Given the description of an element on the screen output the (x, y) to click on. 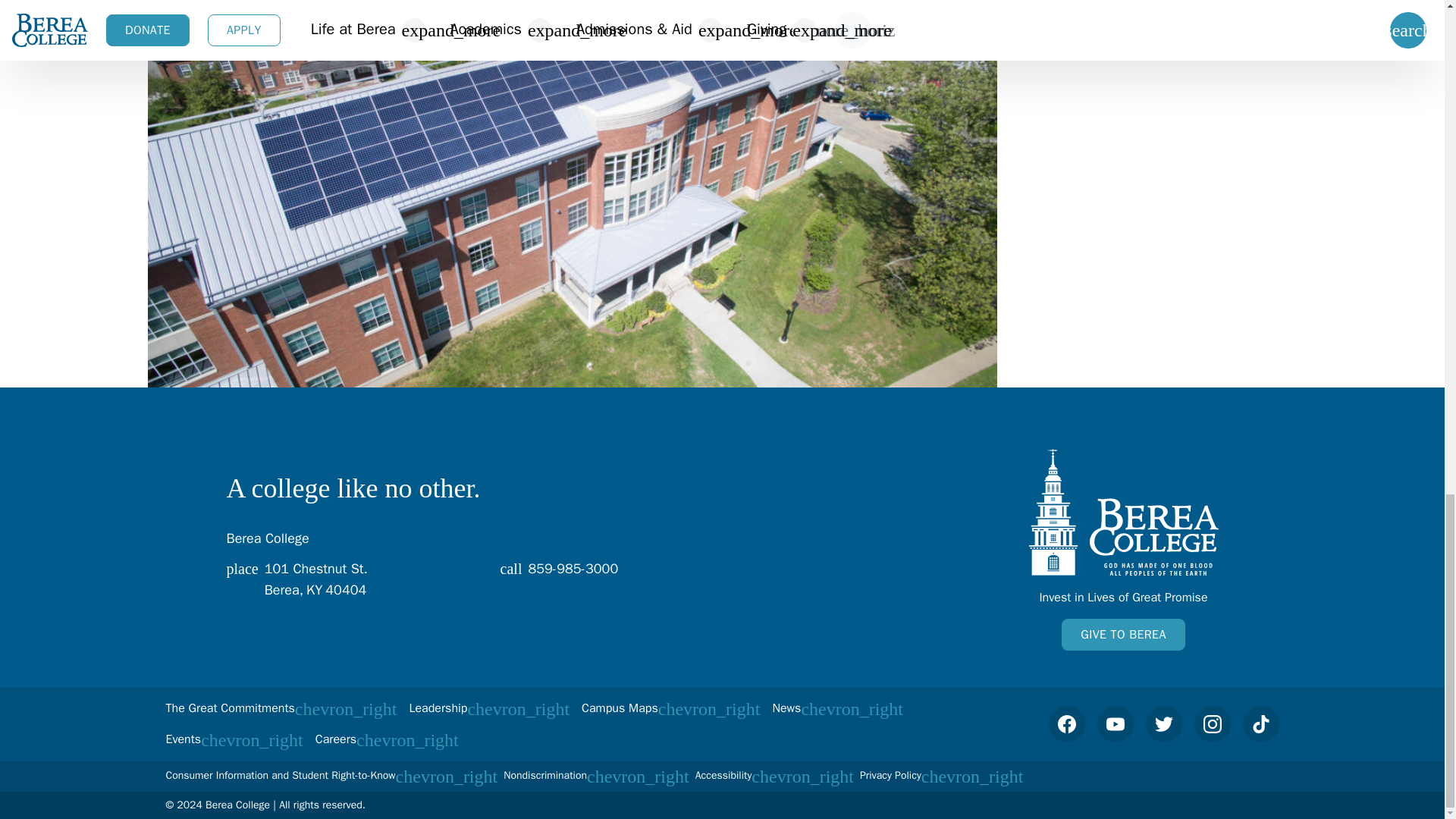
GIVE TO BEREA (613, 577)
Berea - A college like no other (350, 577)
